Given the description of an element on the screen output the (x, y) to click on. 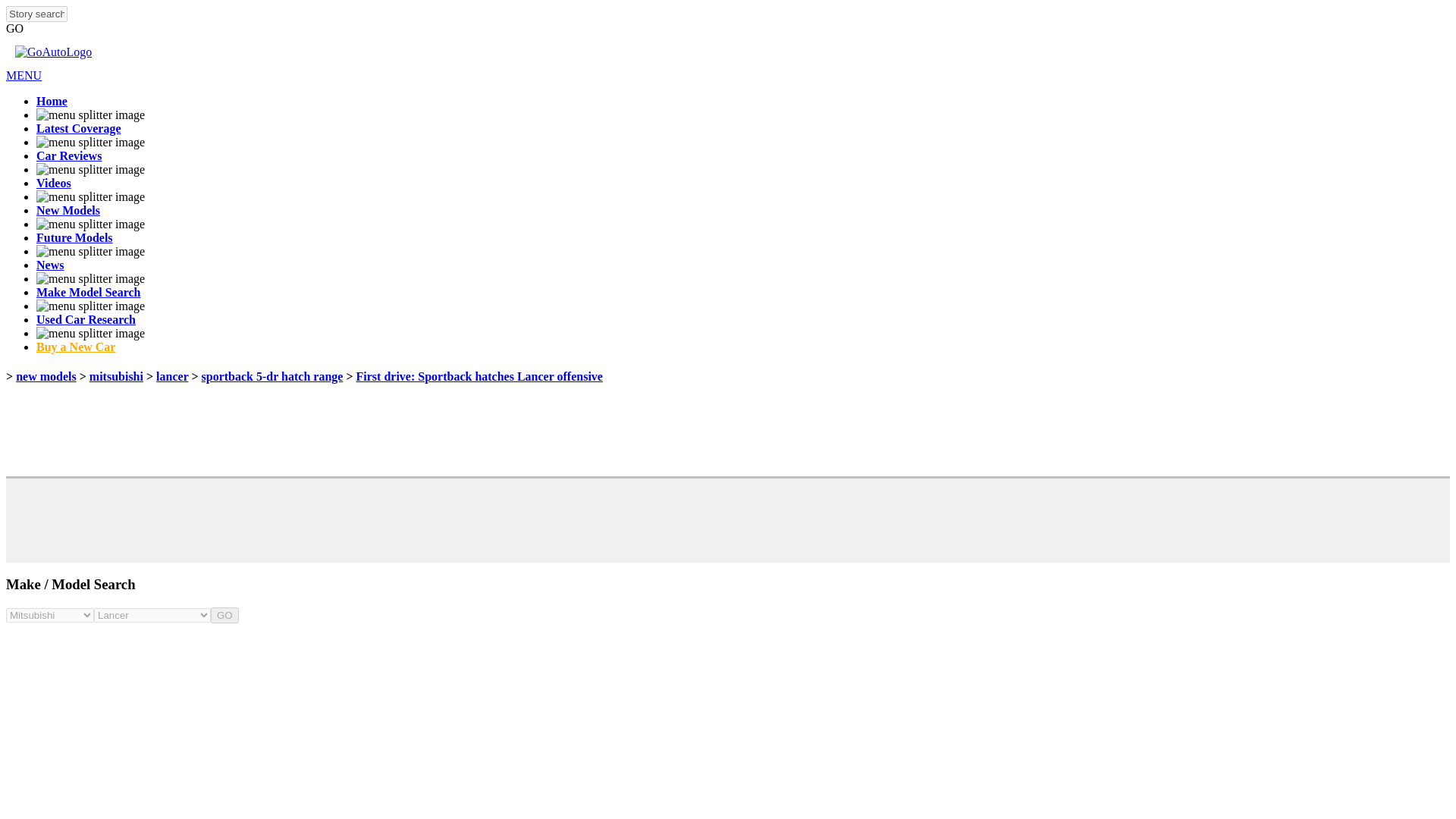
lancer (171, 376)
Latest Coverage (78, 128)
Buy a New Car (75, 346)
Future Models (74, 237)
Home (51, 101)
Car Reviews (68, 155)
First drive: Sportback hatches Lancer offensive (479, 376)
